Given the description of an element on the screen output the (x, y) to click on. 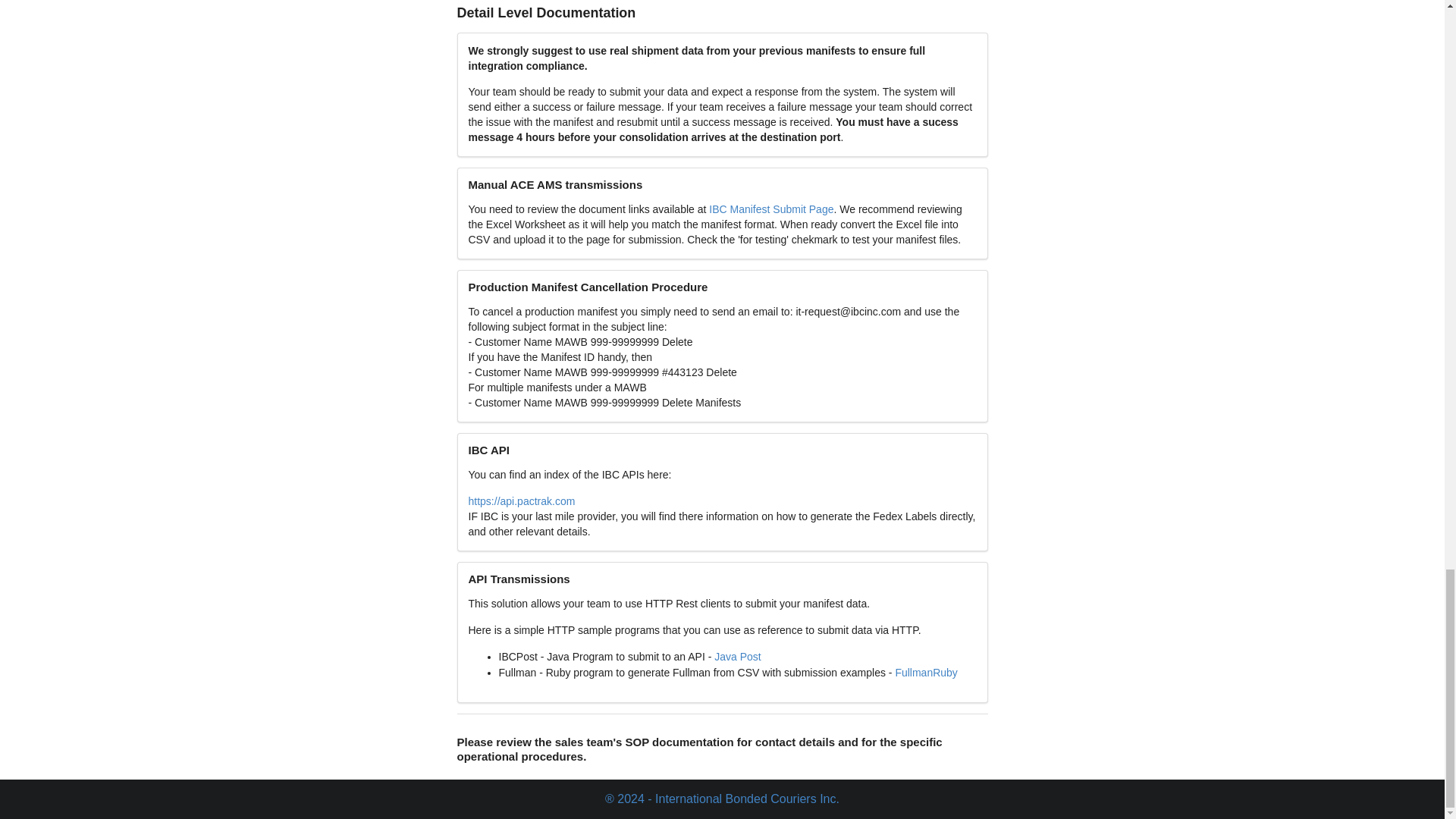
Java Post (737, 656)
FullmanRuby (925, 672)
IBC Manifest Submit Page (770, 209)
